Given the description of an element on the screen output the (x, y) to click on. 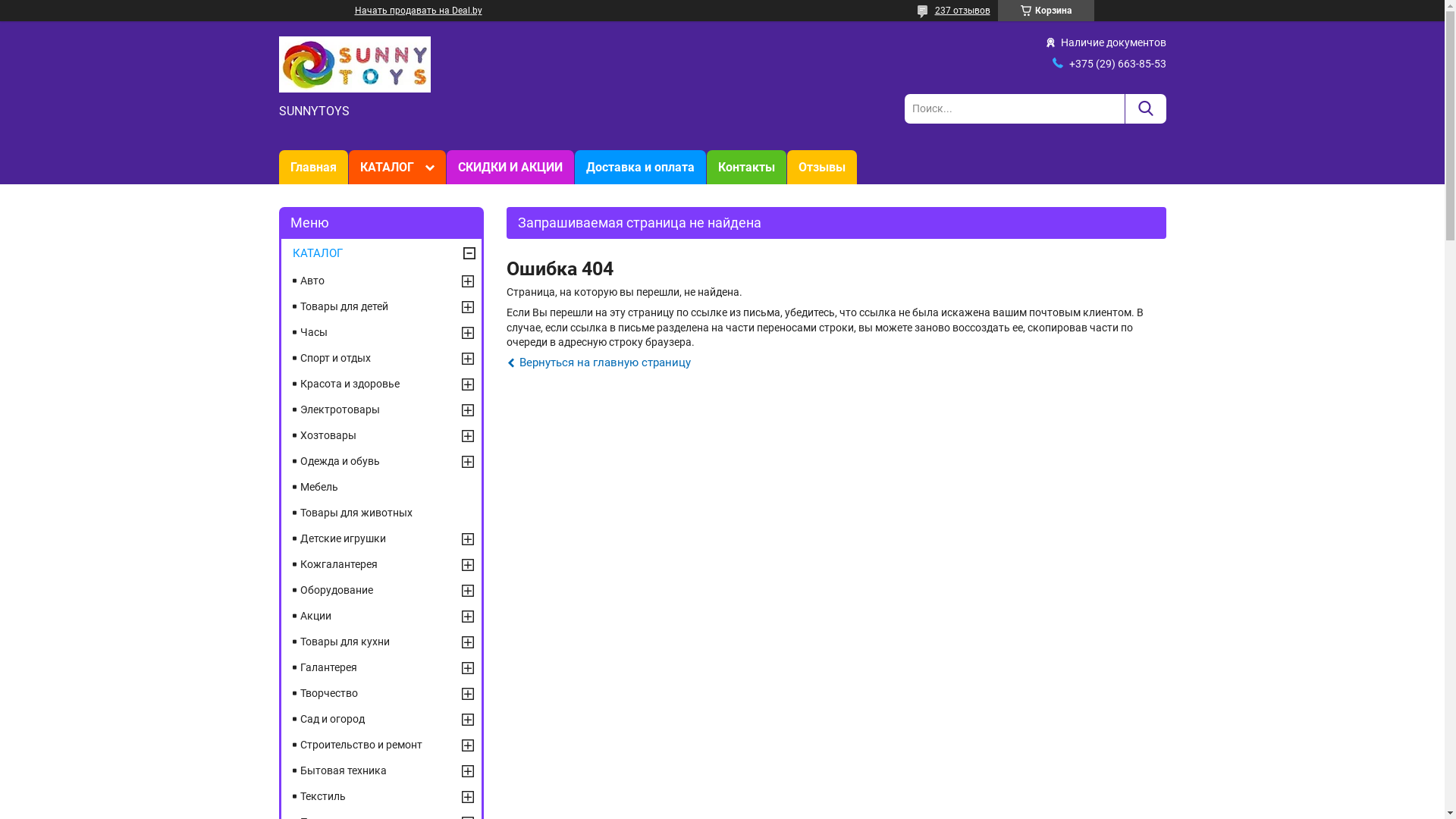
SUNNYTOYS Element type: hover (354, 63)
